Given the description of an element on the screen output the (x, y) to click on. 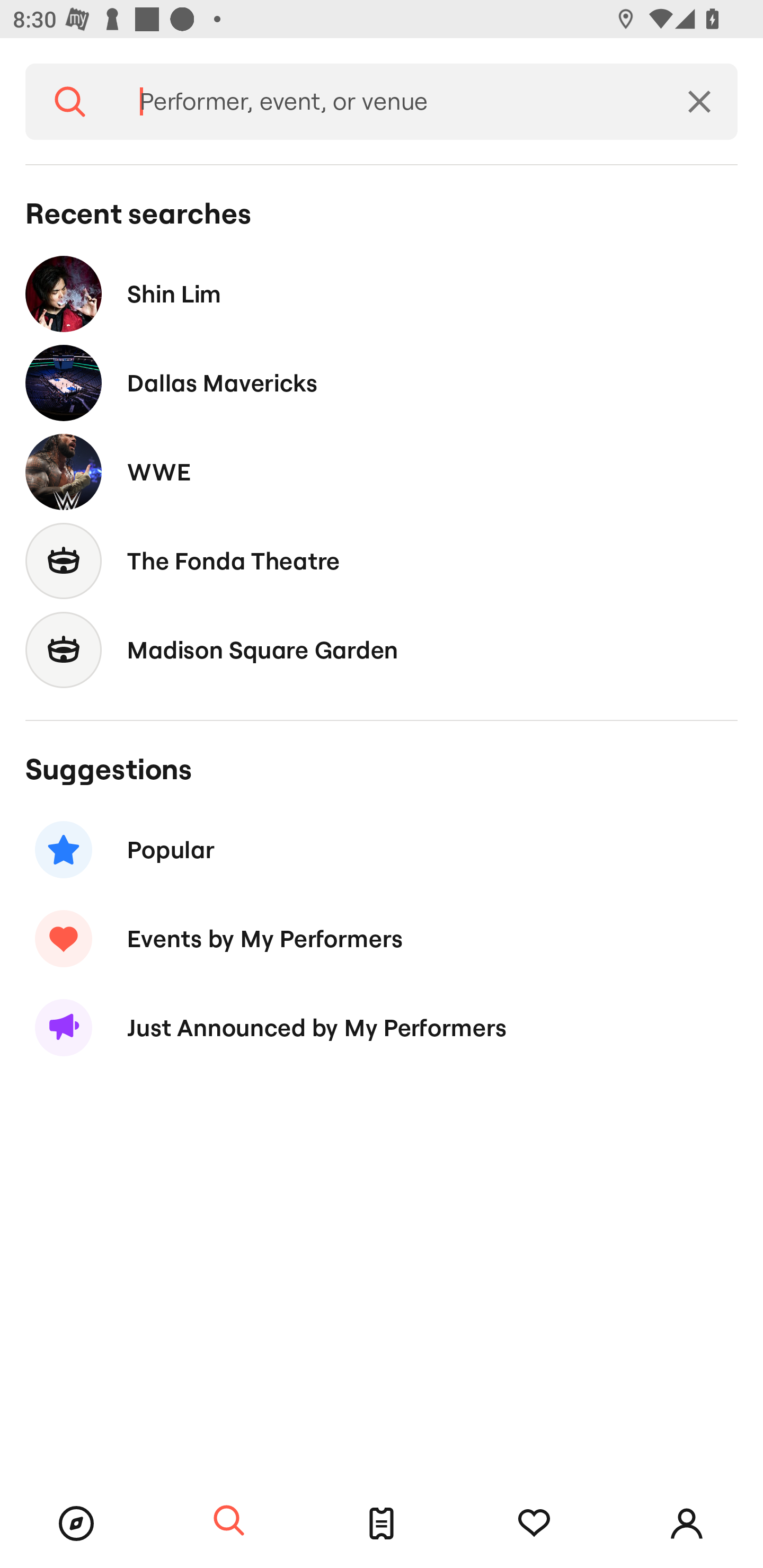
Search (69, 101)
Performer, event, or venue (387, 101)
Clear (699, 101)
Shin Lim (381, 293)
Dallas Mavericks (381, 383)
WWE (381, 471)
The Fonda Theatre (381, 560)
Madison Square Garden (381, 649)
Popular (381, 849)
Events by My Performers (381, 938)
Just Announced by My Performers (381, 1027)
Browse (76, 1523)
Search (228, 1521)
Tickets (381, 1523)
Tracking (533, 1523)
Account (686, 1523)
